Given the description of an element on the screen output the (x, y) to click on. 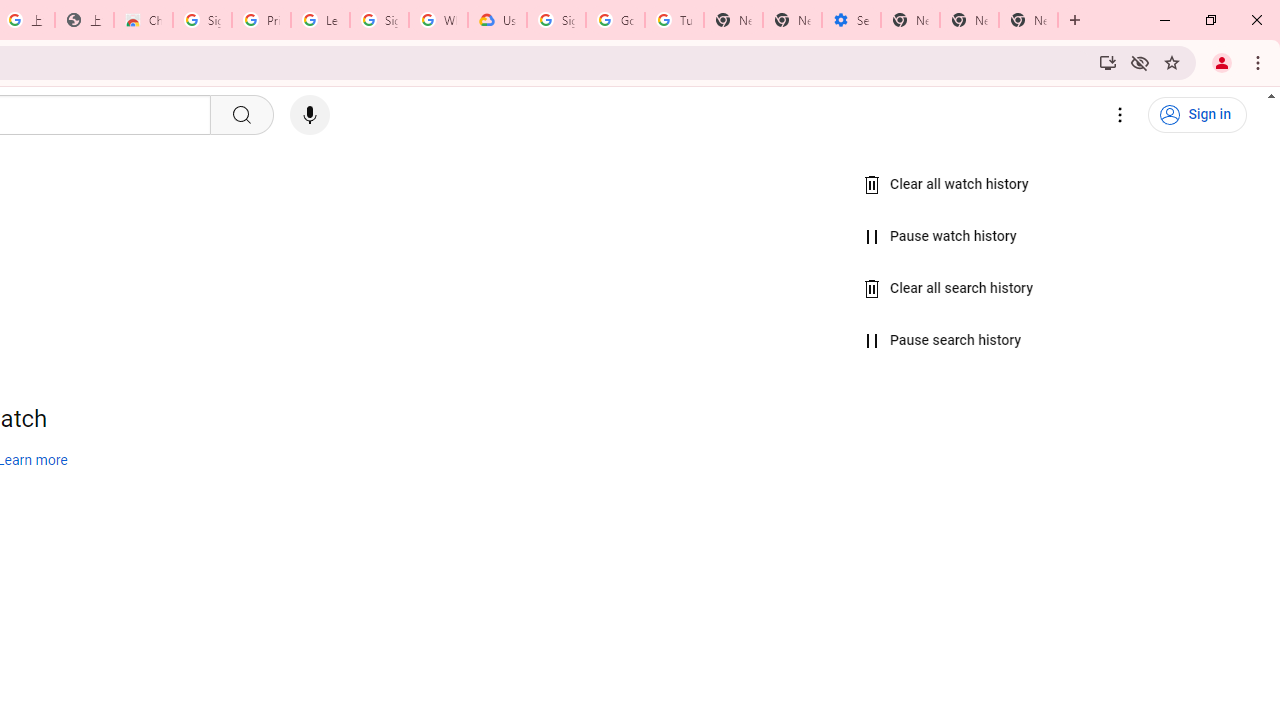
Clear all watch history (946, 185)
Clear all search history (949, 288)
Settings (1119, 115)
Install YouTube (1107, 62)
Sign in - Google Accounts (556, 20)
Sign in - Google Accounts (201, 20)
Third-party cookies blocked (1139, 62)
